Given the description of an element on the screen output the (x, y) to click on. 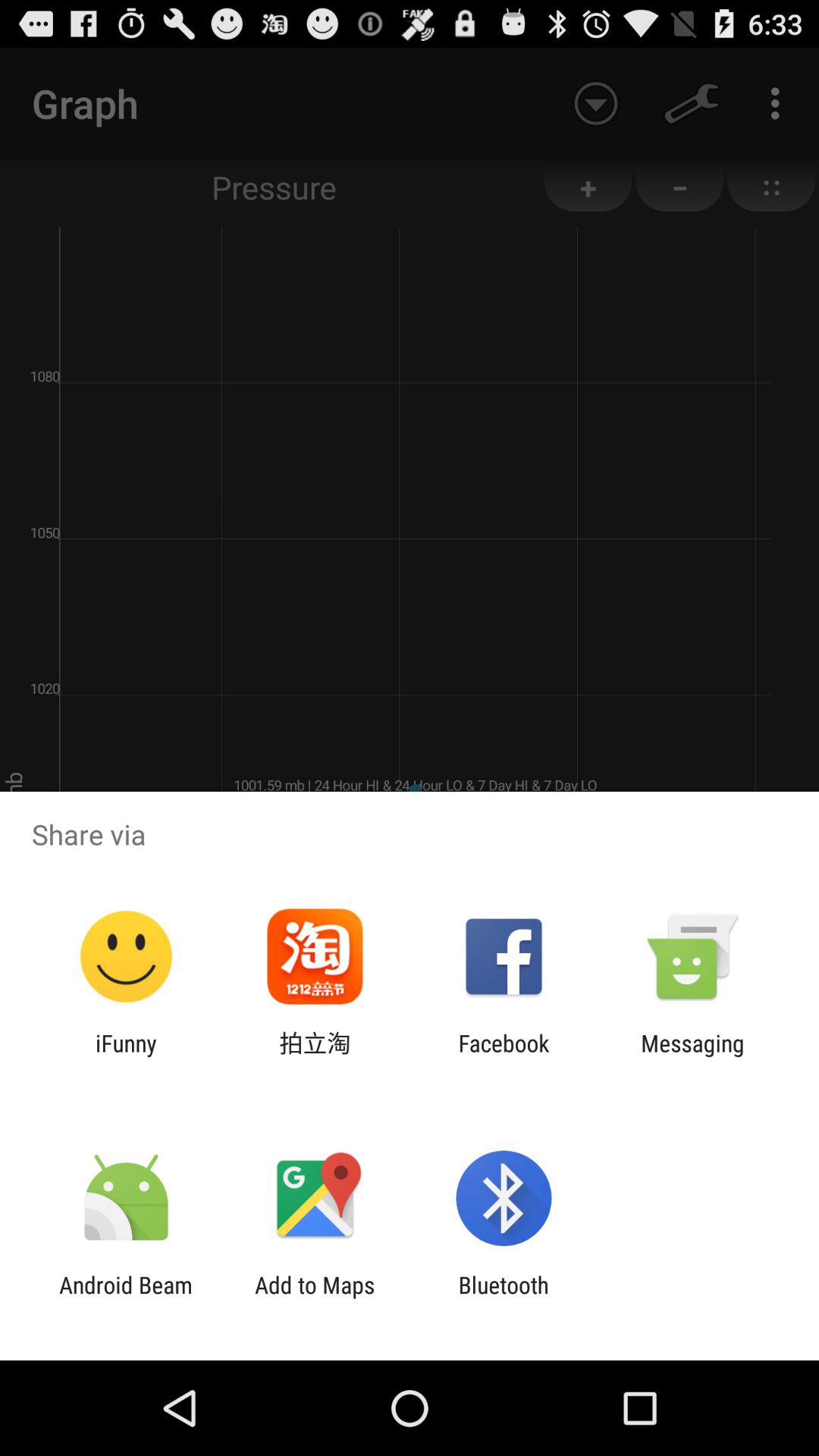
launch the app next to the add to maps item (503, 1298)
